Given the description of an element on the screen output the (x, y) to click on. 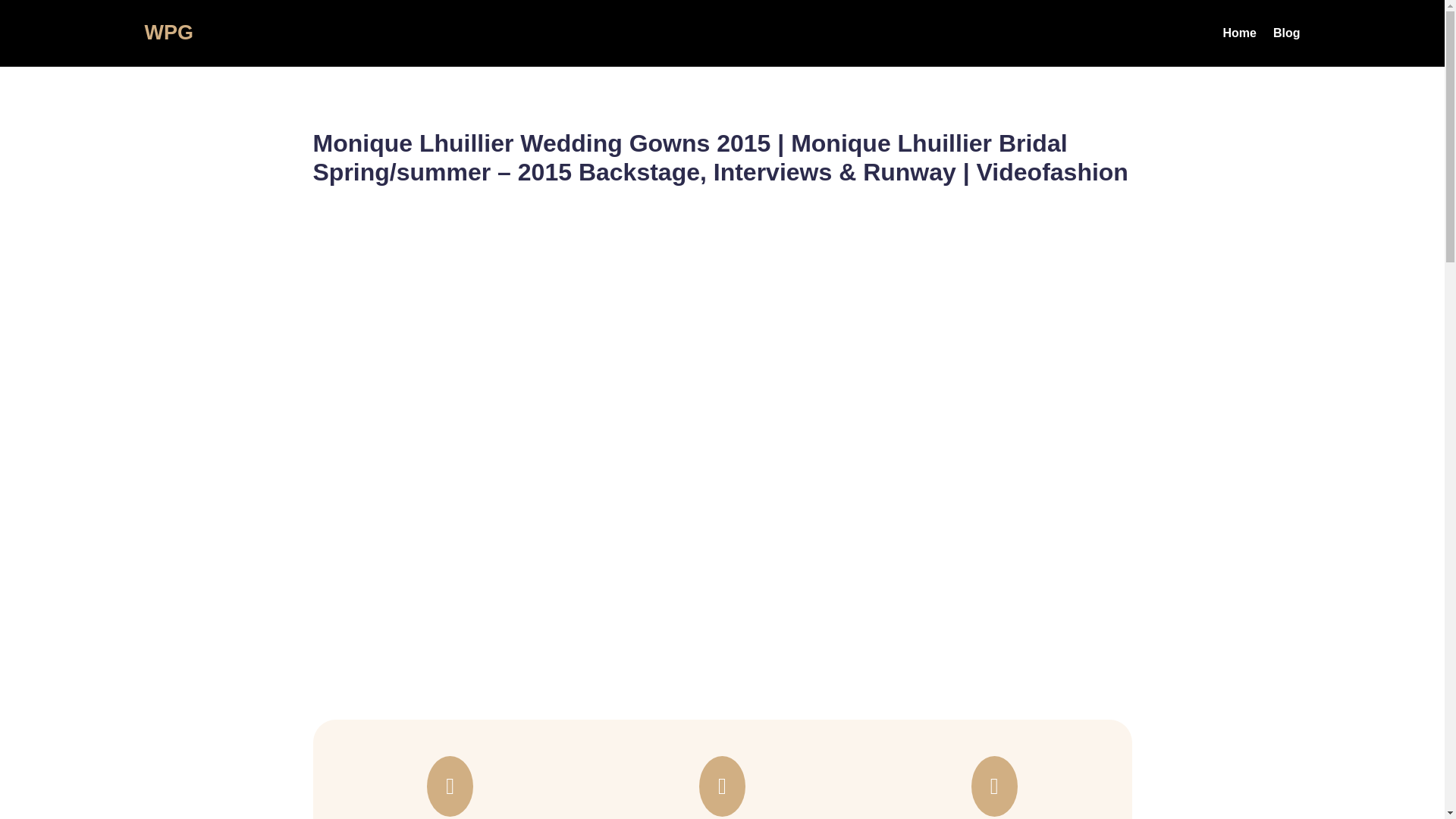
Home (1239, 36)
Blog (1286, 36)
